Given the description of an element on the screen output the (x, y) to click on. 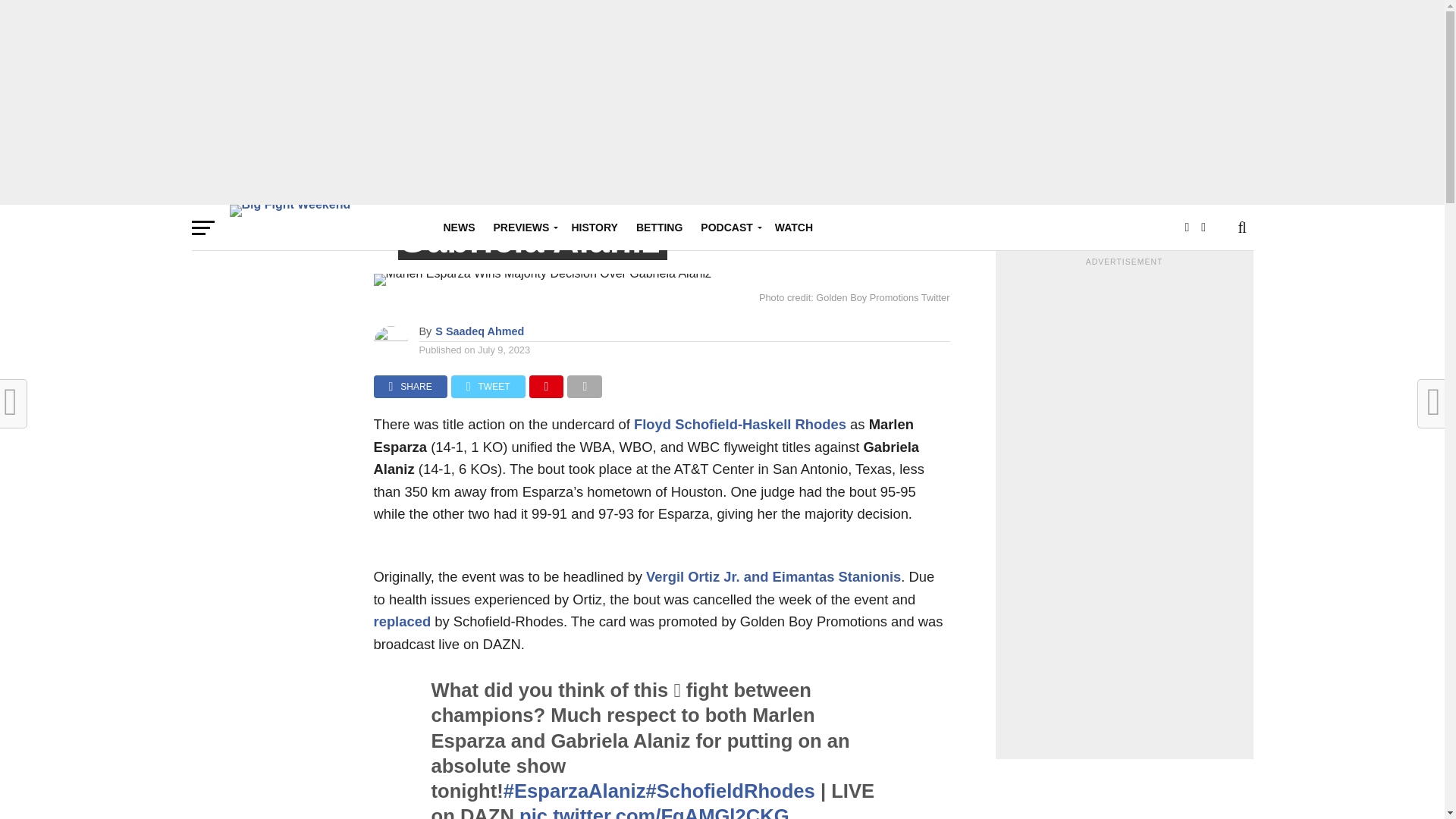
replaced (401, 621)
PREVIEWS (522, 227)
Vergil Ortiz Jr. and Eimantas Stanionis (773, 576)
HISTORY (594, 227)
Floyd Schofield-Haskell Rhodes (739, 424)
WATCH (793, 227)
BETTING (659, 227)
PODCAST (728, 227)
S Saadeq Ahmed (479, 331)
Posts by S Saadeq Ahmed (479, 331)
NEWS (458, 227)
